Given the description of an element on the screen output the (x, y) to click on. 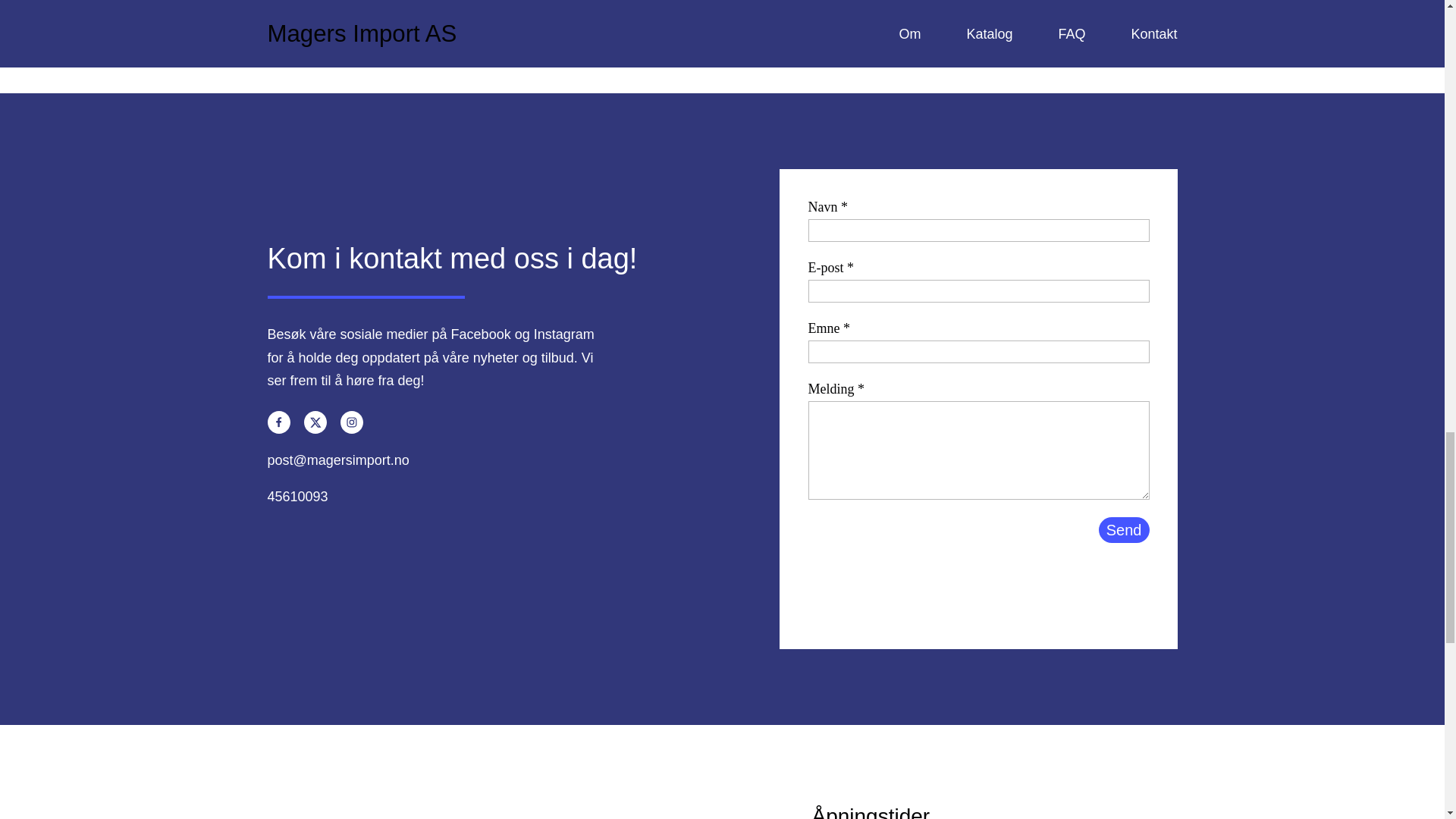
Send (1124, 529)
45610093 (296, 496)
Send (1124, 529)
